Given the description of an element on the screen output the (x, y) to click on. 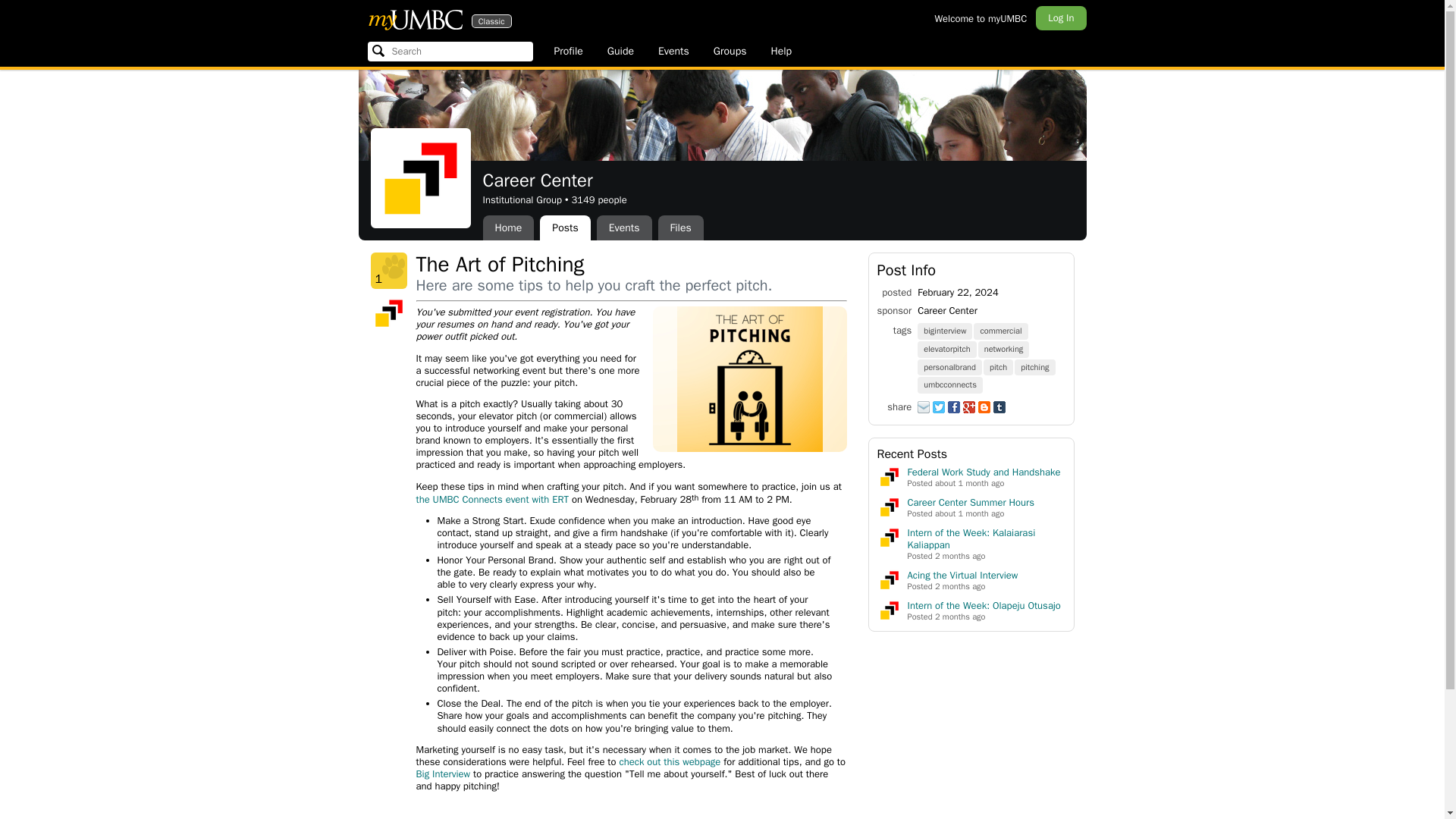
networking (1004, 348)
pitching (1035, 366)
Profile (567, 51)
3149 people (598, 199)
myUMBC (414, 19)
Events (624, 227)
biginterview (945, 329)
Guide (620, 51)
commercial (1001, 329)
Home (507, 227)
the UMBC Connects event with ERT (491, 499)
Help (780, 51)
check out this webpage (414, 19)
Groups (669, 761)
